Given the description of an element on the screen output the (x, y) to click on. 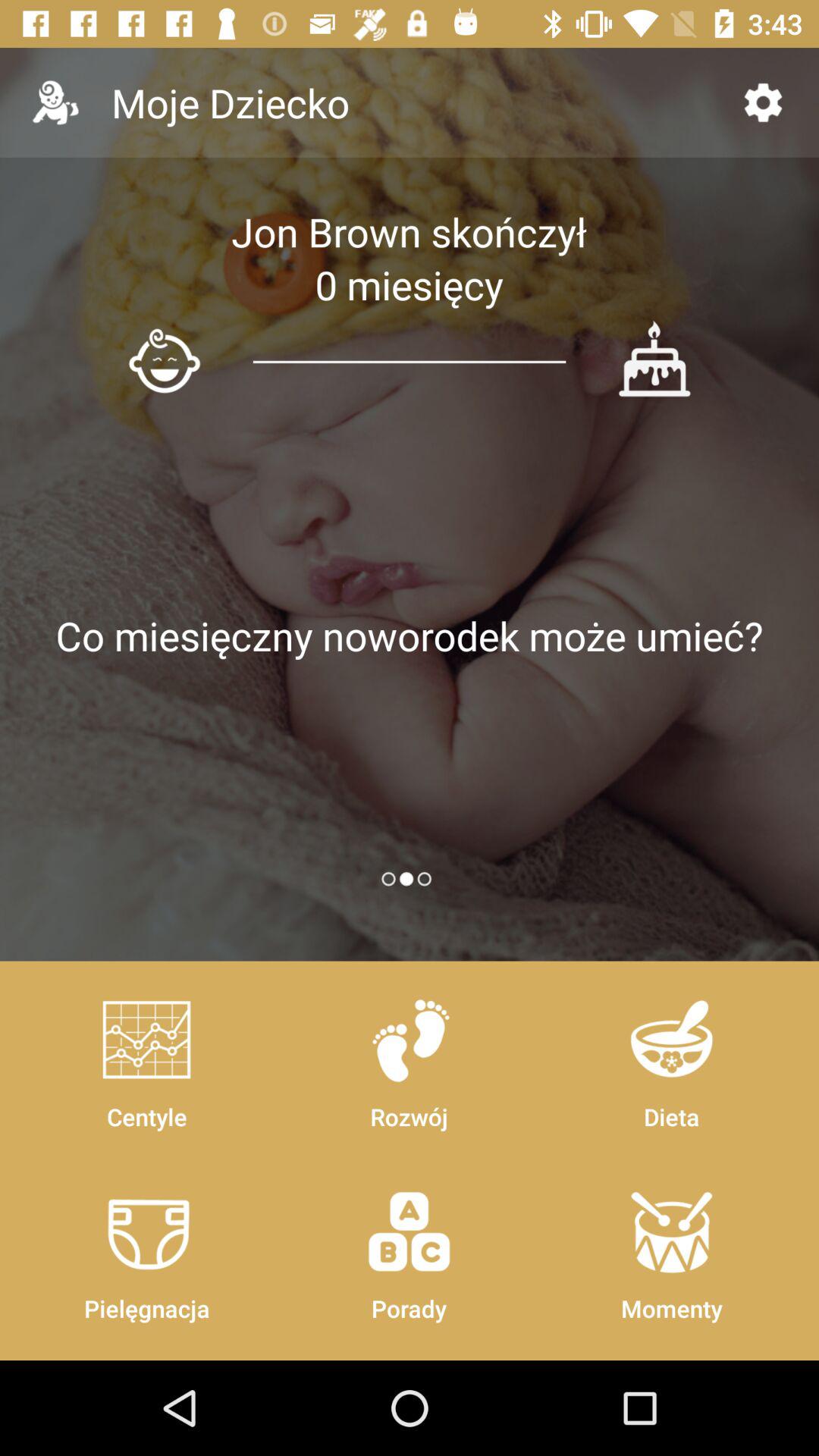
jump until momenty icon (671, 1248)
